Given the description of an element on the screen output the (x, y) to click on. 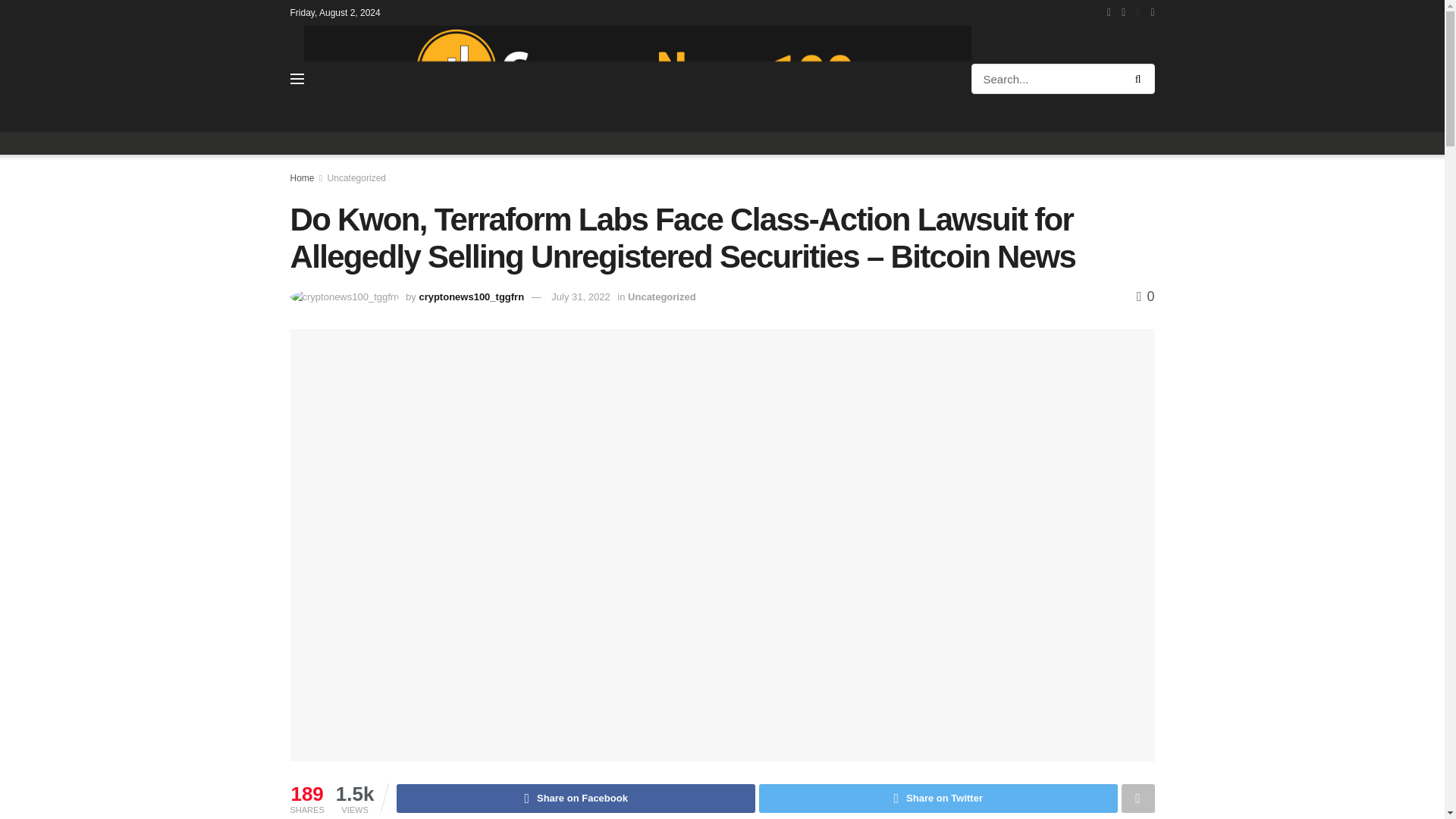
July 31, 2022 (580, 296)
Share on Twitter (938, 798)
Home (301, 177)
Share on Facebook (575, 798)
0 (1145, 296)
Uncategorized (661, 296)
Uncategorized (356, 177)
